Given the description of an element on the screen output the (x, y) to click on. 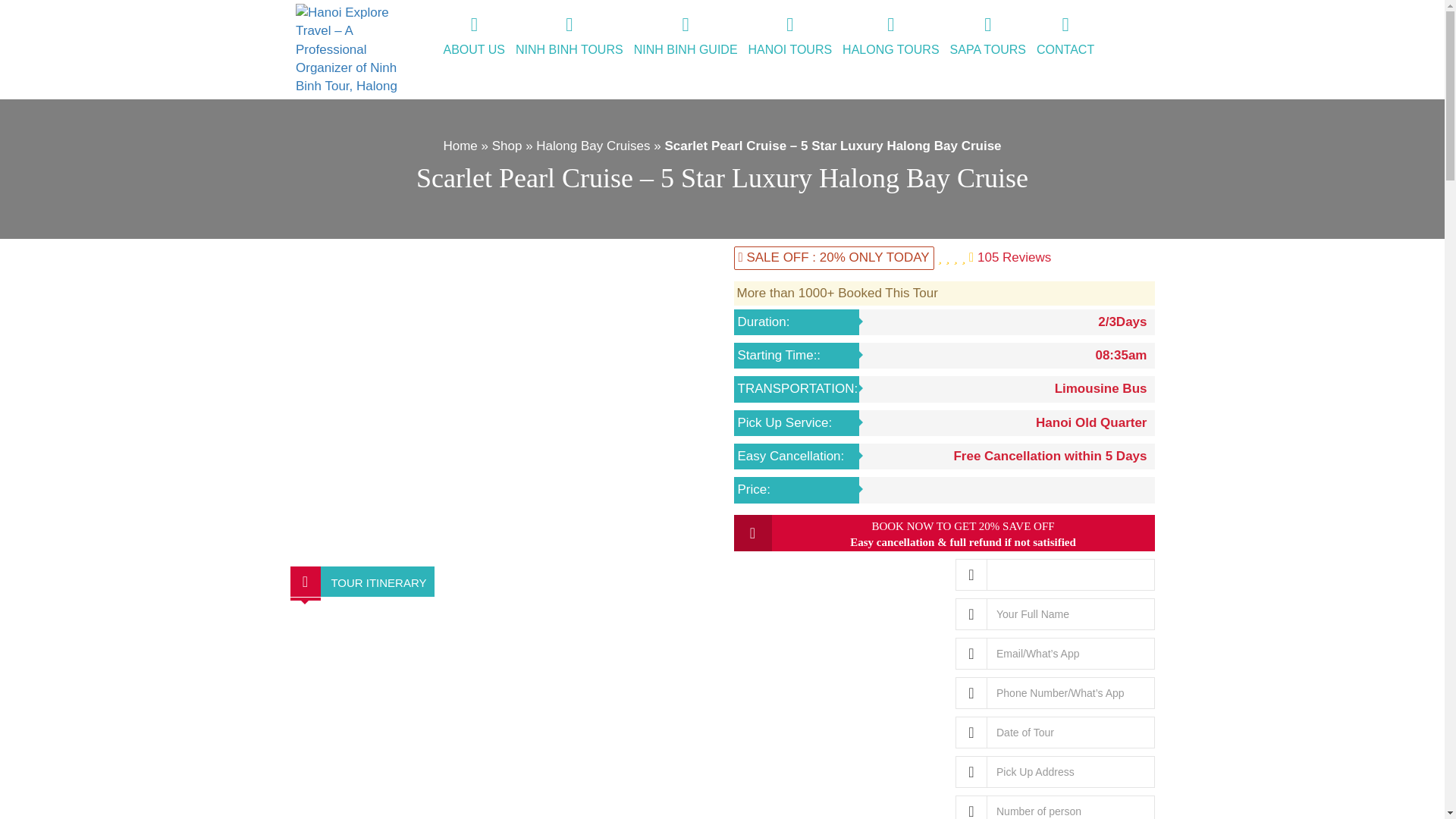
NINH BINH GUIDE (685, 37)
Home (459, 145)
HANOI TOURS (790, 37)
SAPA TOURS (987, 37)
ABOUT US (474, 37)
HALONG TOURS (890, 37)
CONTACT (1064, 37)
NINH BINH TOURS (569, 37)
Shop (507, 145)
Halong Bay Cruises (592, 145)
